Given the description of an element on the screen output the (x, y) to click on. 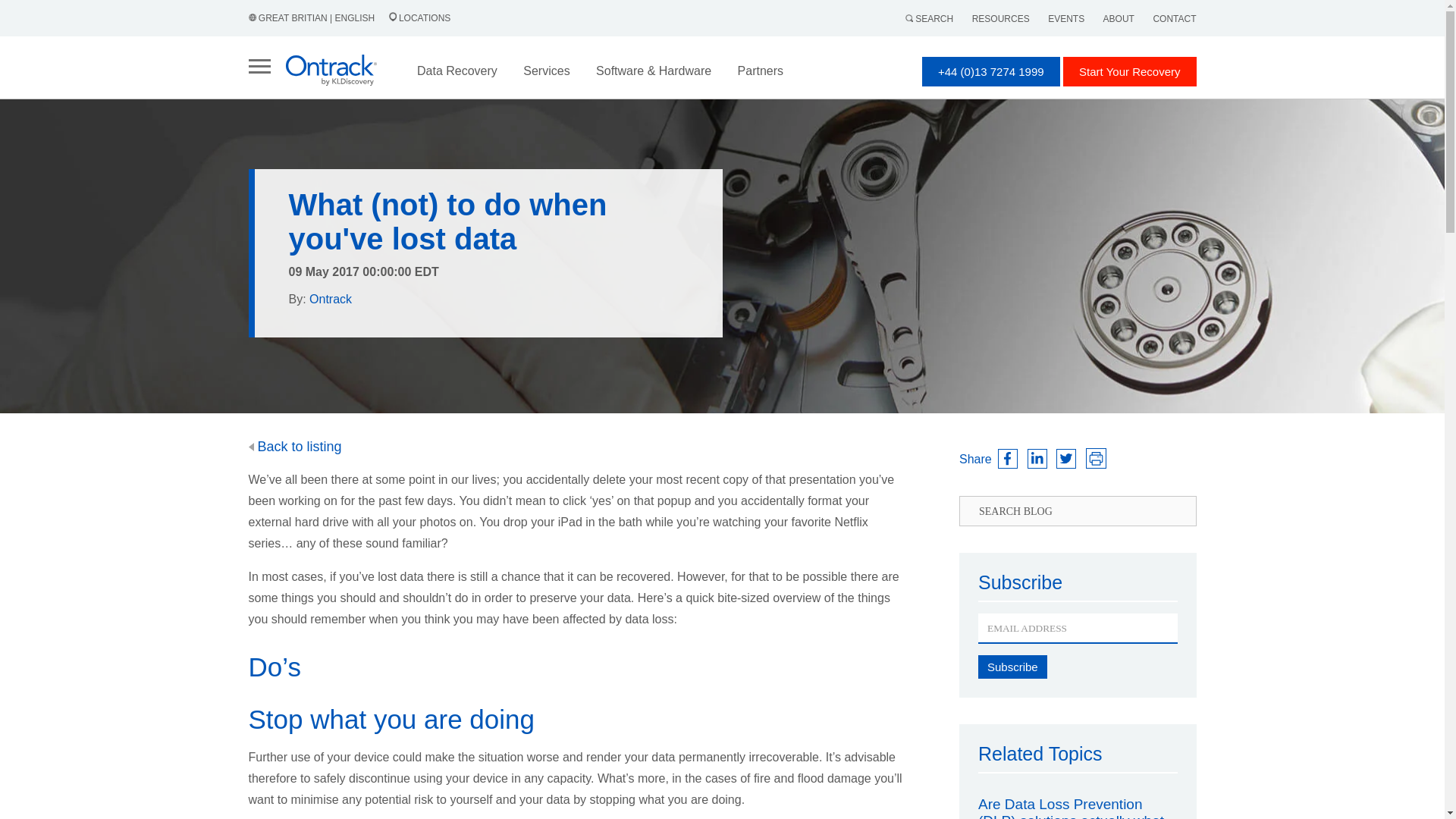
RESOURCES (1000, 18)
ABOUT (1118, 18)
Subscribe (1012, 666)
LOCATIONS (414, 18)
CONTACT (1174, 18)
EVENTS (1066, 18)
